Given the description of an element on the screen output the (x, y) to click on. 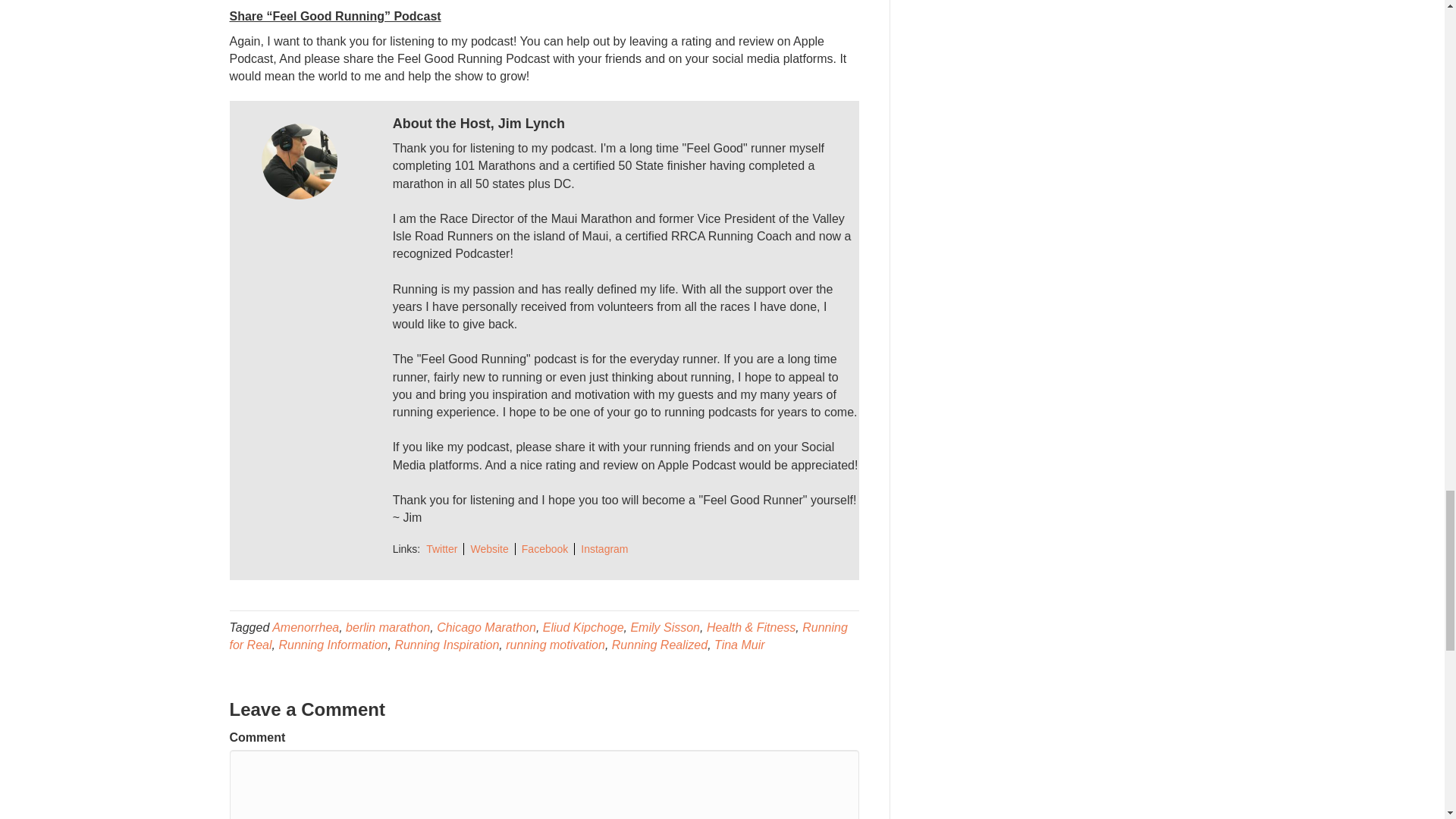
Website (488, 548)
Chicago Marathon (485, 626)
Twitter (441, 548)
Facebook (544, 548)
Amenorrhea (305, 626)
berlin marathon (387, 626)
Instagram (603, 548)
